Given the description of an element on the screen output the (x, y) to click on. 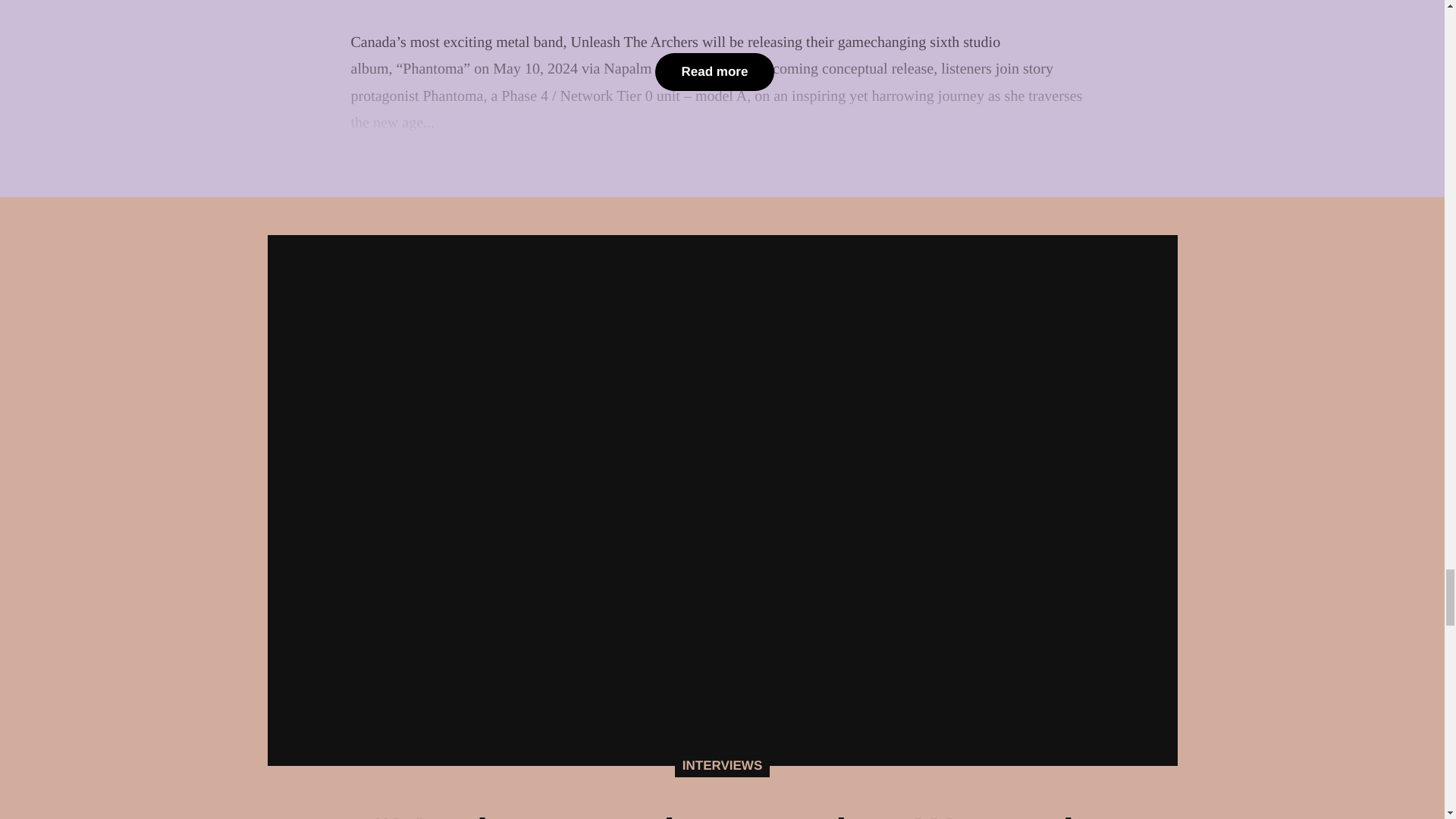
INTERVIEWS (722, 765)
